Given the description of an element on the screen output the (x, y) to click on. 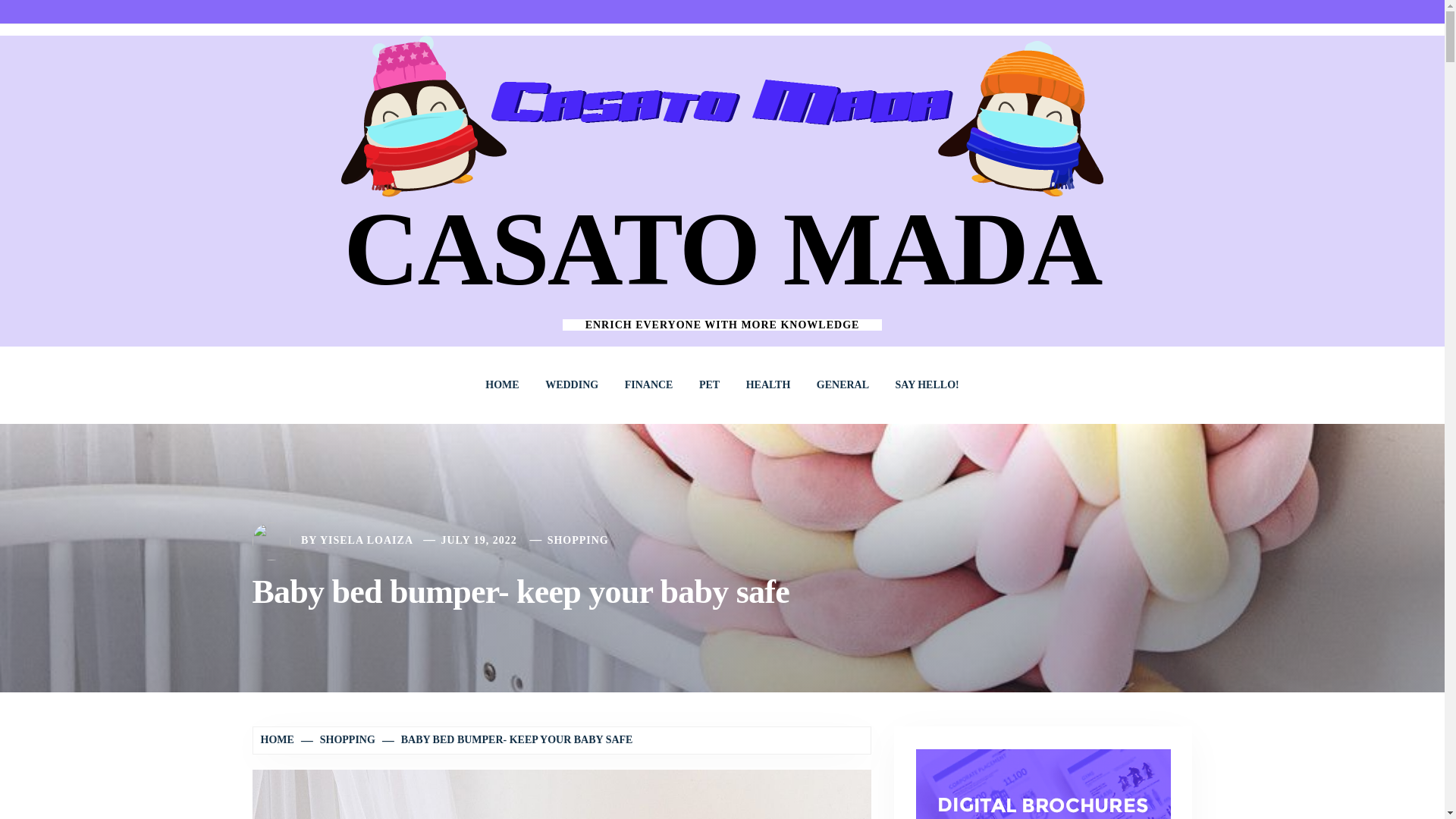
CASATO MADA (721, 248)
HOME (279, 739)
SHOPPING (339, 739)
SAY HELLO! (927, 384)
HOME (501, 384)
JULY 19, 2022 (478, 540)
WEDDING (572, 384)
YISELA LOAIZA (366, 540)
GENERAL (842, 384)
SHOPPING (577, 540)
BABY BED BUMPER- KEEP YOUR BABY SAFE (508, 739)
HEALTH (768, 384)
FINANCE (648, 384)
